Given the description of an element on the screen output the (x, y) to click on. 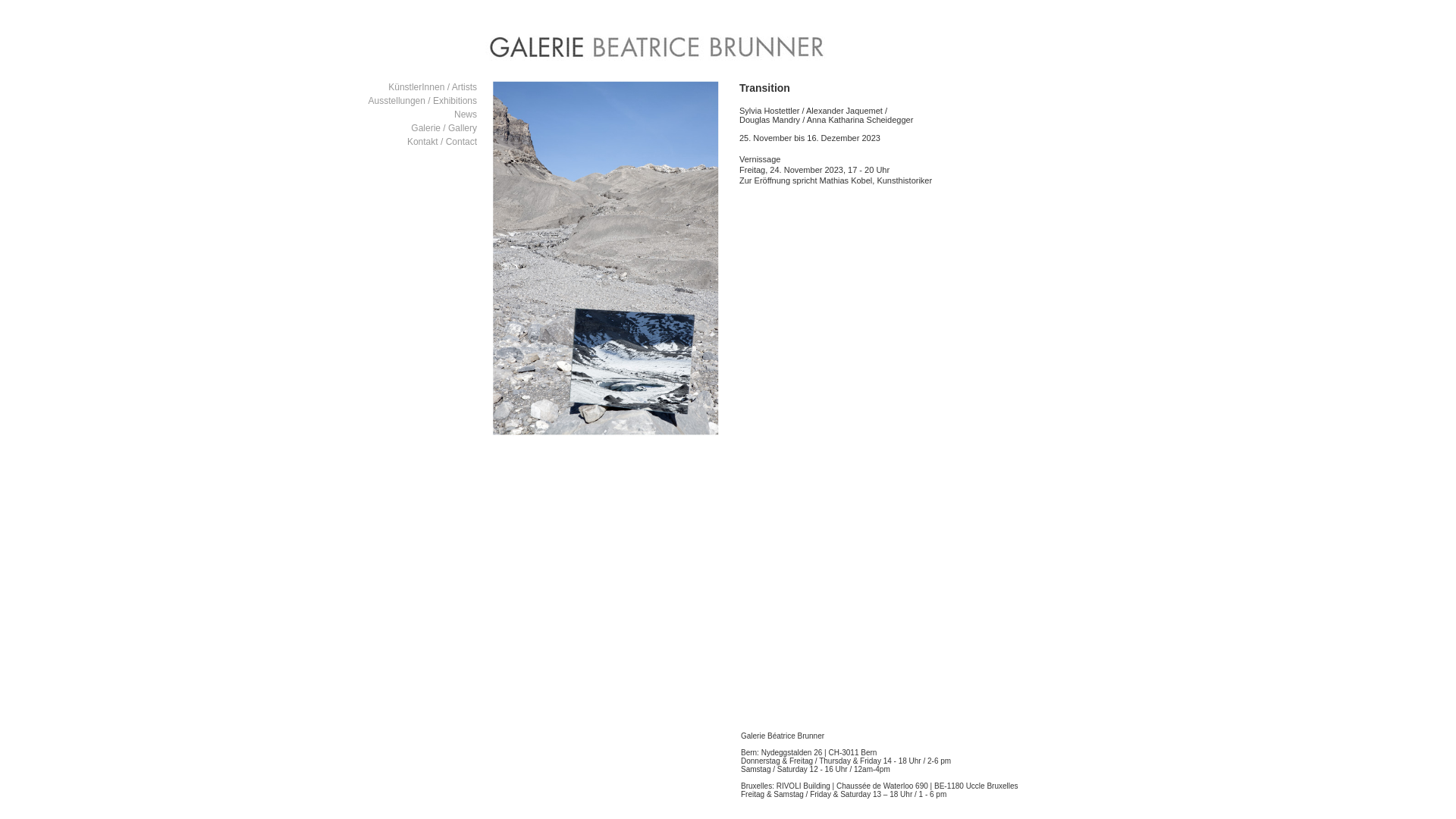
News Element type: text (465, 114)
Ausstellungen / Exhibitions Element type: text (422, 100)
Kontakt / Contact Element type: text (441, 141)
Galerie / Gallery Element type: text (443, 127)
